Given the description of an element on the screen output the (x, y) to click on. 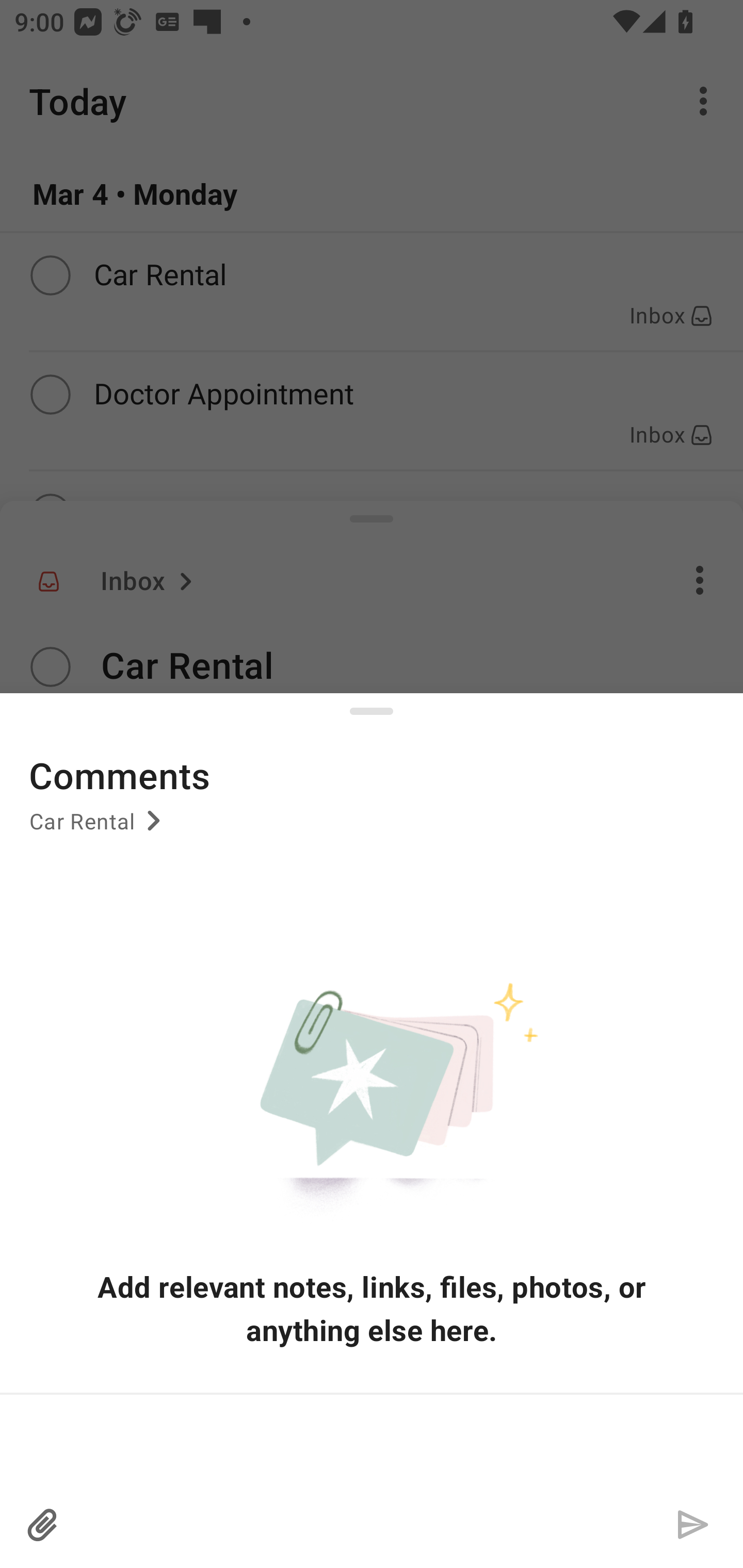
Car Rental (97, 828)
Attachment (43, 1524)
Submit (692, 1524)
